Given the description of an element on the screen output the (x, y) to click on. 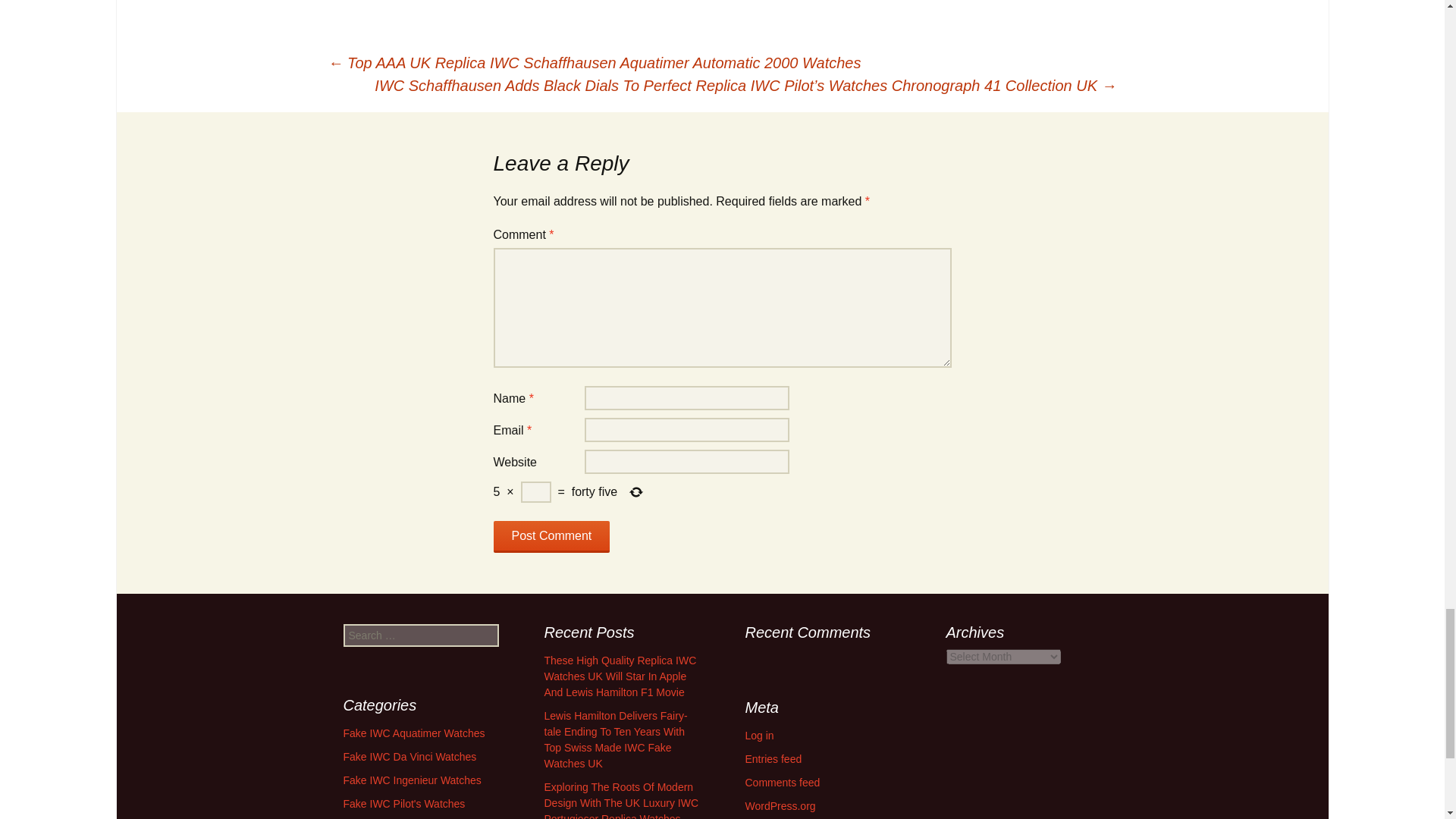
Fake IWC Aquatimer Watches (413, 733)
Fake IWC Pilot's Watches (403, 803)
Fake IWC Da Vinci Watches (409, 756)
Post Comment (551, 536)
Post Comment (551, 536)
Fake IWC Ingenieur Watches (411, 779)
Log in (758, 735)
